Given the description of an element on the screen output the (x, y) to click on. 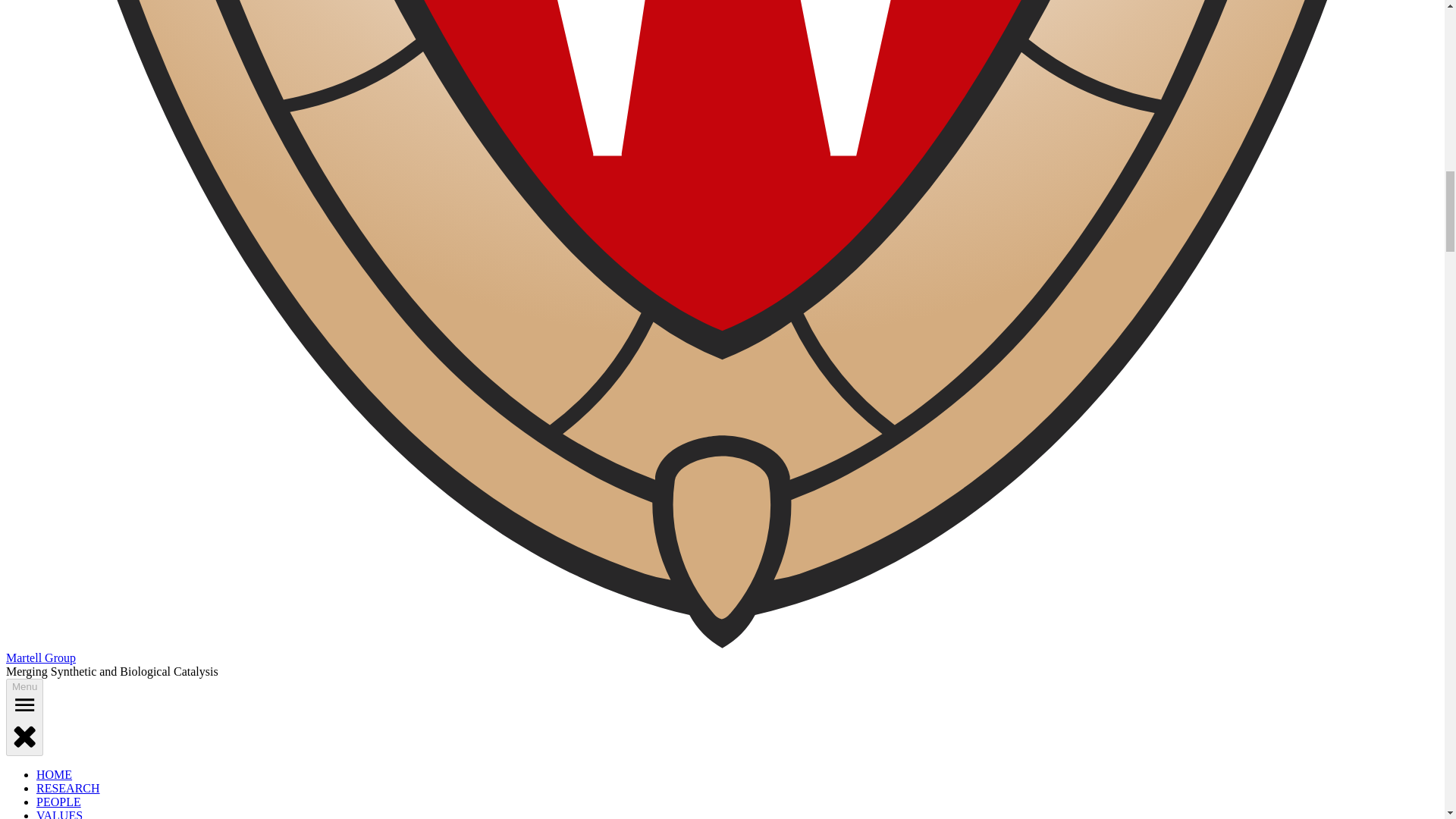
HOME (53, 774)
VALUES (59, 814)
RESEARCH (68, 788)
PEOPLE (58, 801)
Martell Group (40, 657)
open menu (24, 704)
